Given the description of an element on the screen output the (x, y) to click on. 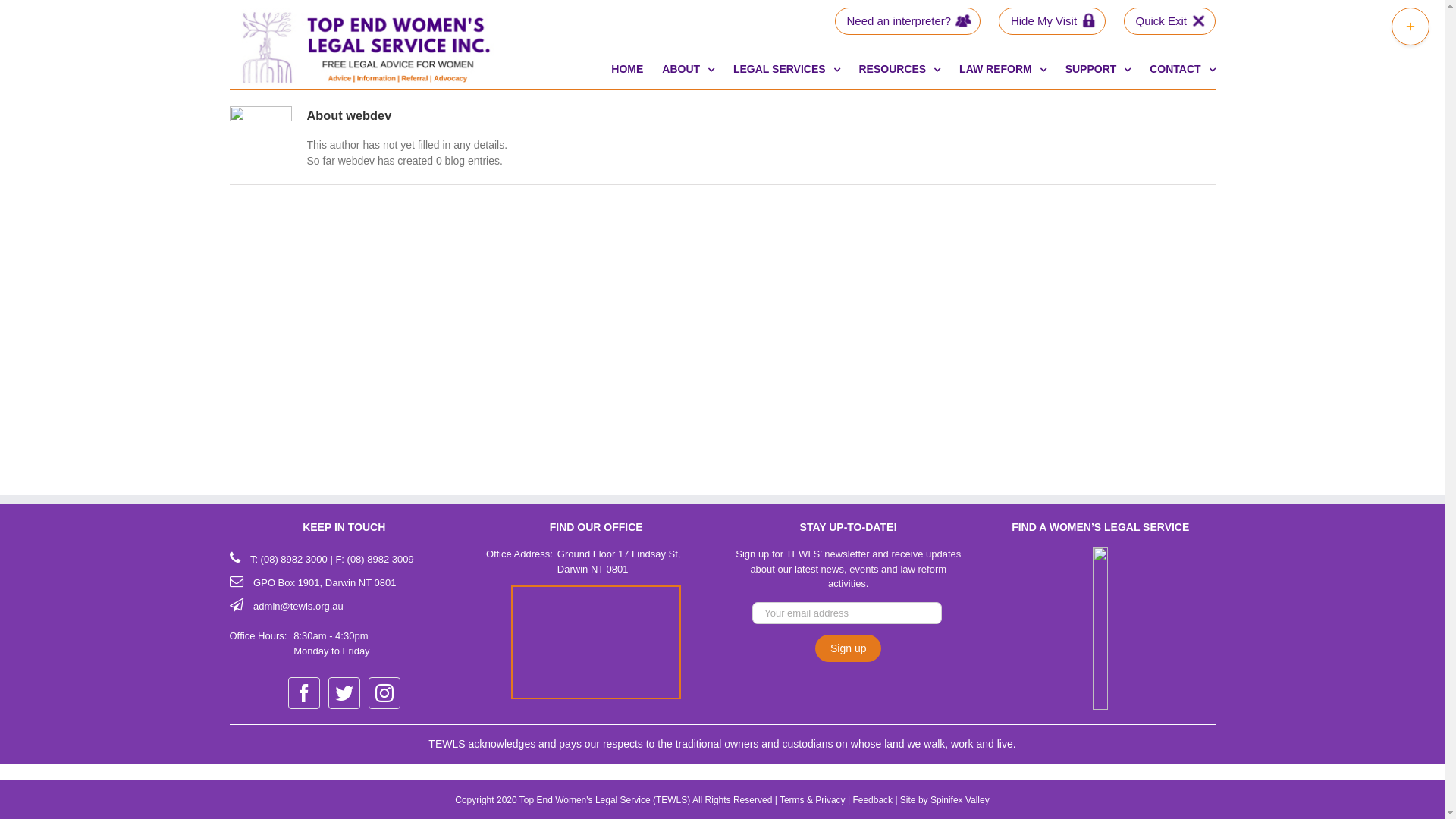
LAW REFORM Element type: text (1002, 65)
Need an interpreter? Element type: text (906, 20)
ABOUT Element type: text (688, 65)
HOME Element type: text (627, 65)
CONTACT Element type: text (1181, 65)
Hide My Visit Element type: text (1051, 20)
Quick Exit Element type: text (1169, 20)
Sign up Element type: text (848, 648)
Terms & Privacy Element type: text (812, 799)
Spinifex Valley Element type: text (959, 799)
Toggle Sliding Bar Area Element type: text (1410, 26)
SUPPORT Element type: text (1098, 65)
Feedback Element type: text (872, 799)
LEGAL SERVICES Element type: text (786, 65)
RESOURCES Element type: text (899, 65)
